Given the description of an element on the screen output the (x, y) to click on. 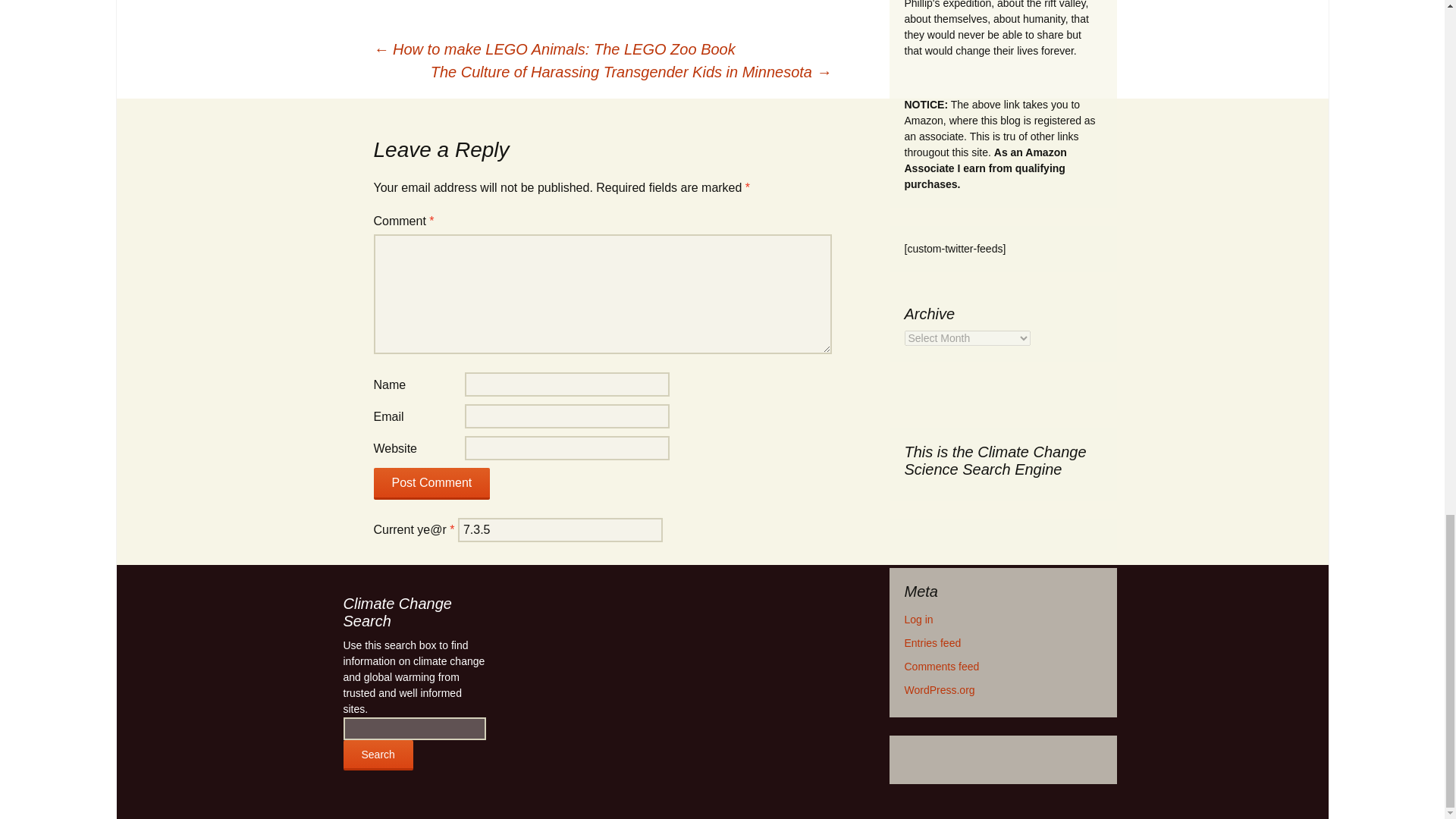
7.3.5 (560, 529)
Search (377, 755)
Post Comment (430, 483)
